Given the description of an element on the screen output the (x, y) to click on. 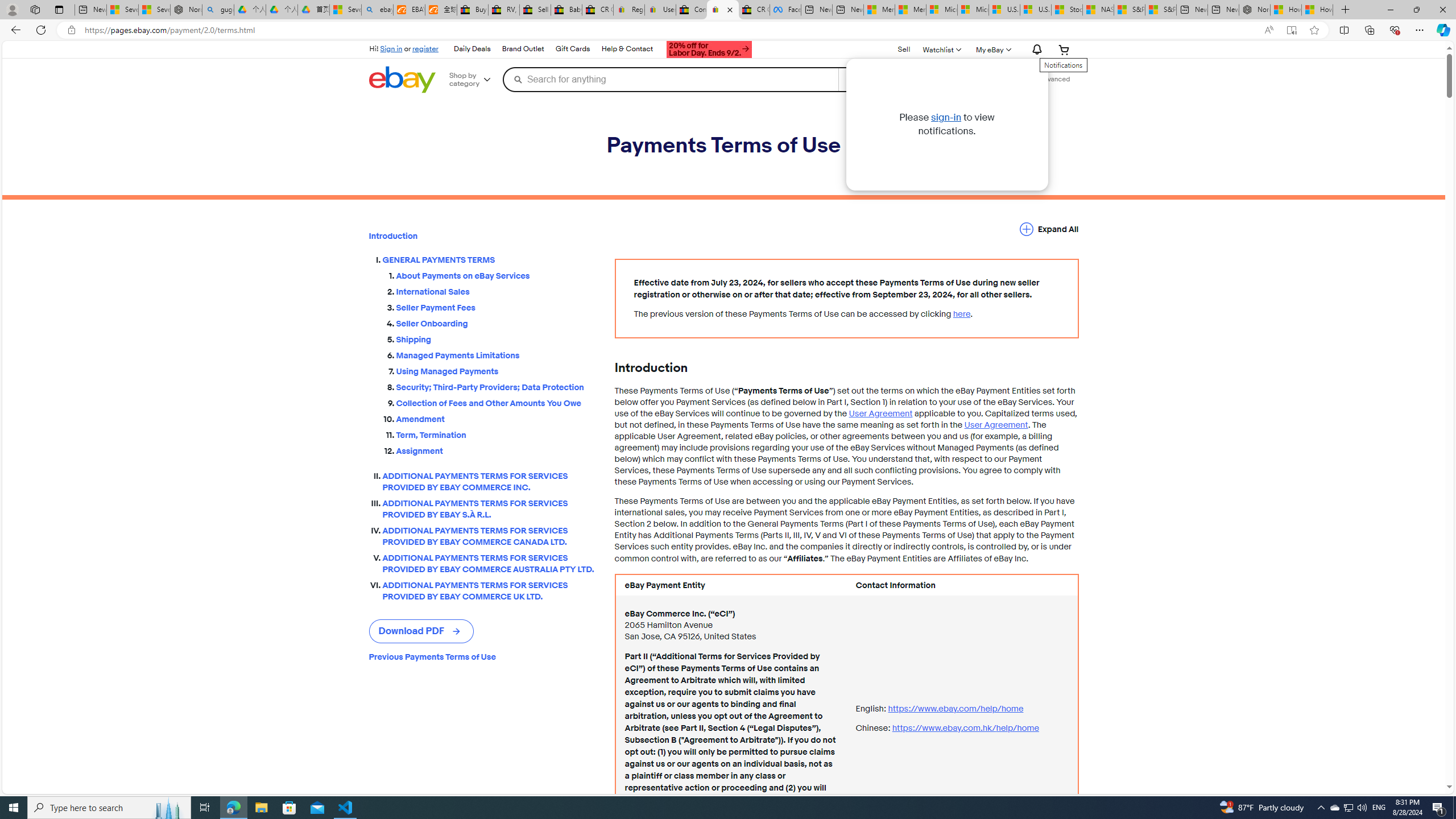
Your shopping cart (1064, 49)
Address and search bar (669, 29)
Payments Terms of Use | eBay.com (722, 9)
Brand Outlet (521, 49)
Get the coupon now (709, 49)
Baby Keepsakes & Announcements for sale | eBay (566, 9)
Buy Auto Parts & Accessories | eBay (472, 9)
Register: Create a personal eBay account (628, 9)
Consumer Health Data Privacy Policy - eBay Inc. (691, 9)
Amendment (496, 416)
AutomationID: gh-ti (707, 47)
